Given the description of an element on the screen output the (x, y) to click on. 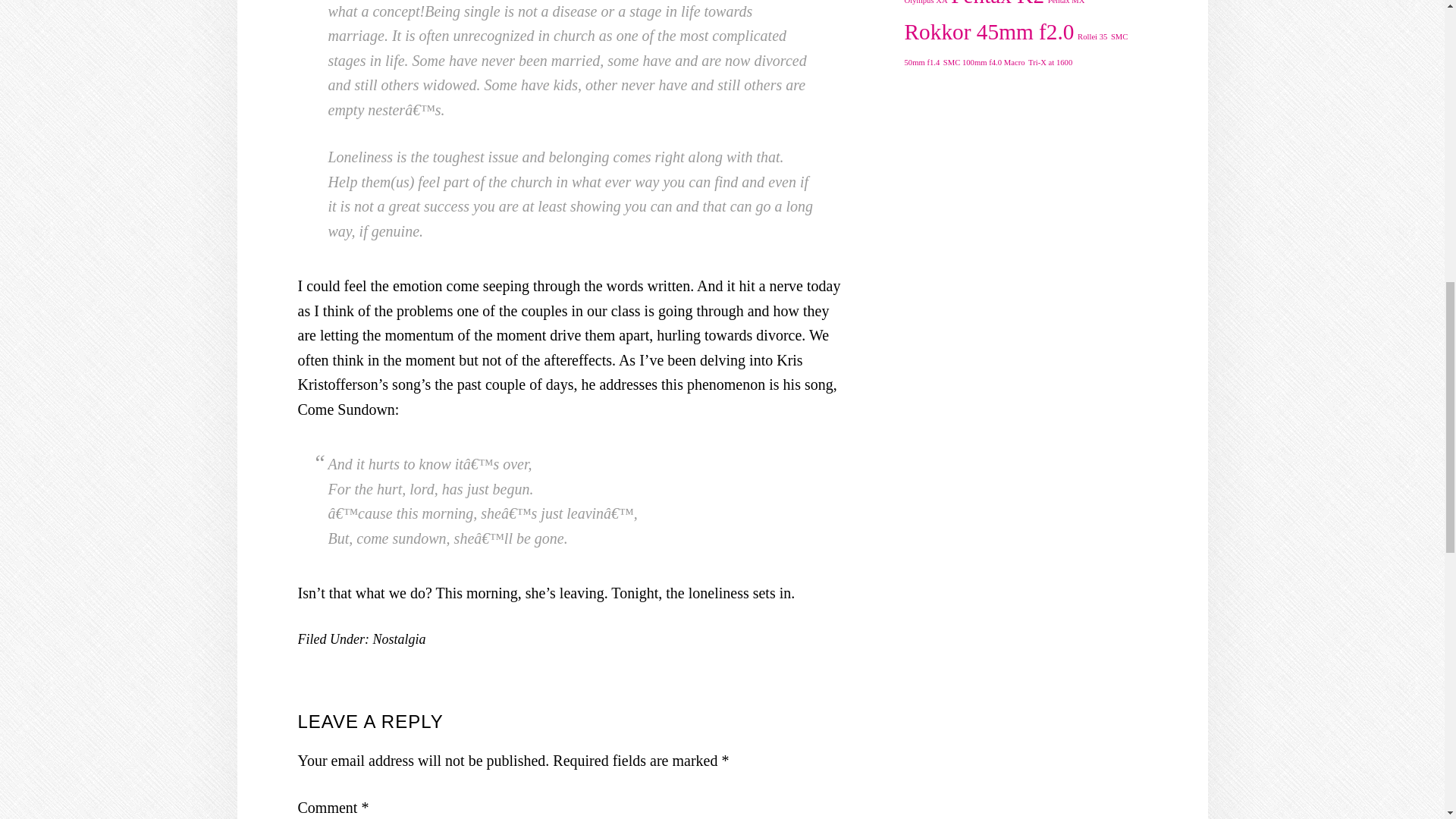
Nostalgia (398, 639)
